Given the description of an element on the screen output the (x, y) to click on. 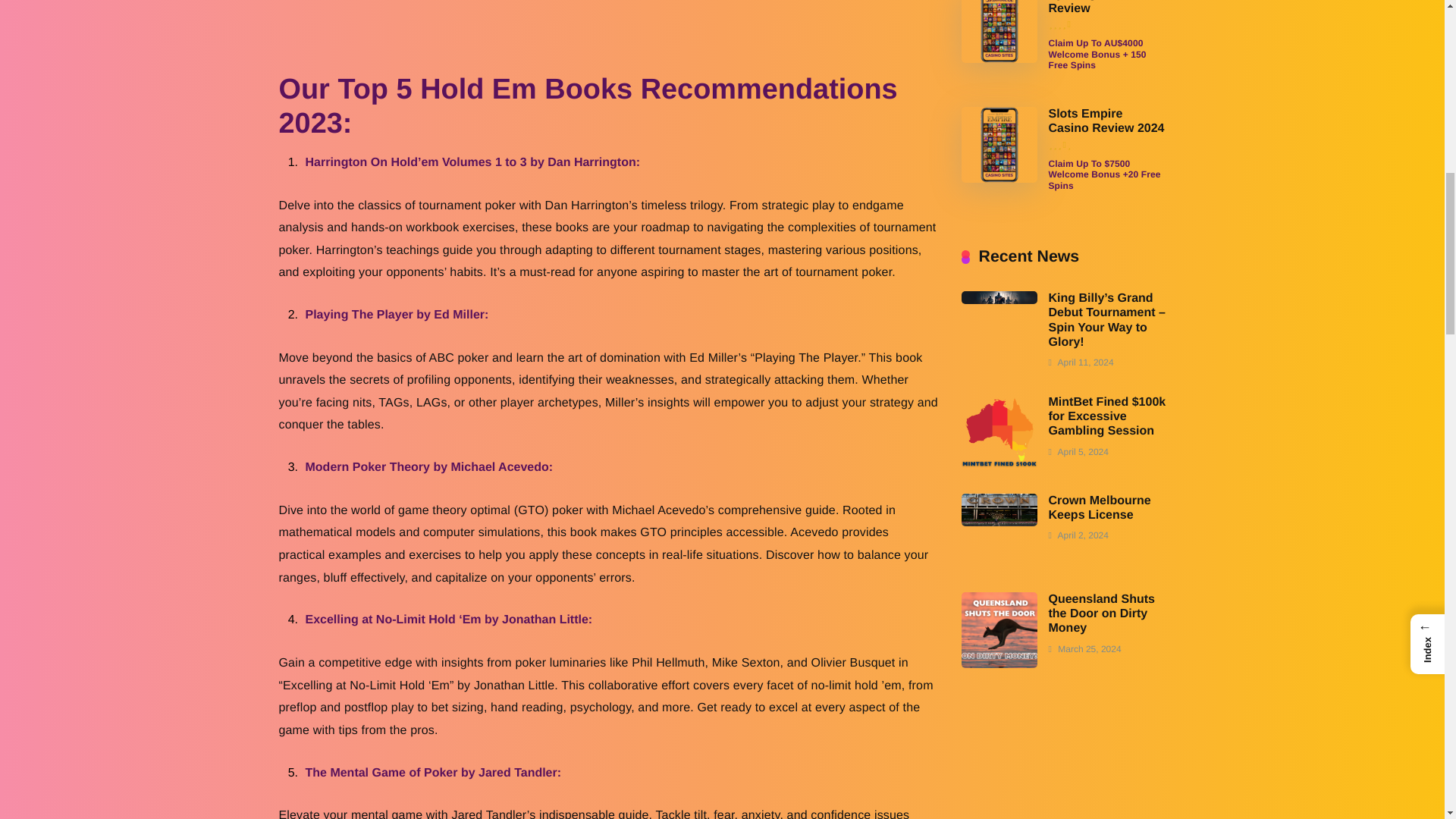
Best Hold'em Poker Books for Australian Players (608, 36)
